Given the description of an element on the screen output the (x, y) to click on. 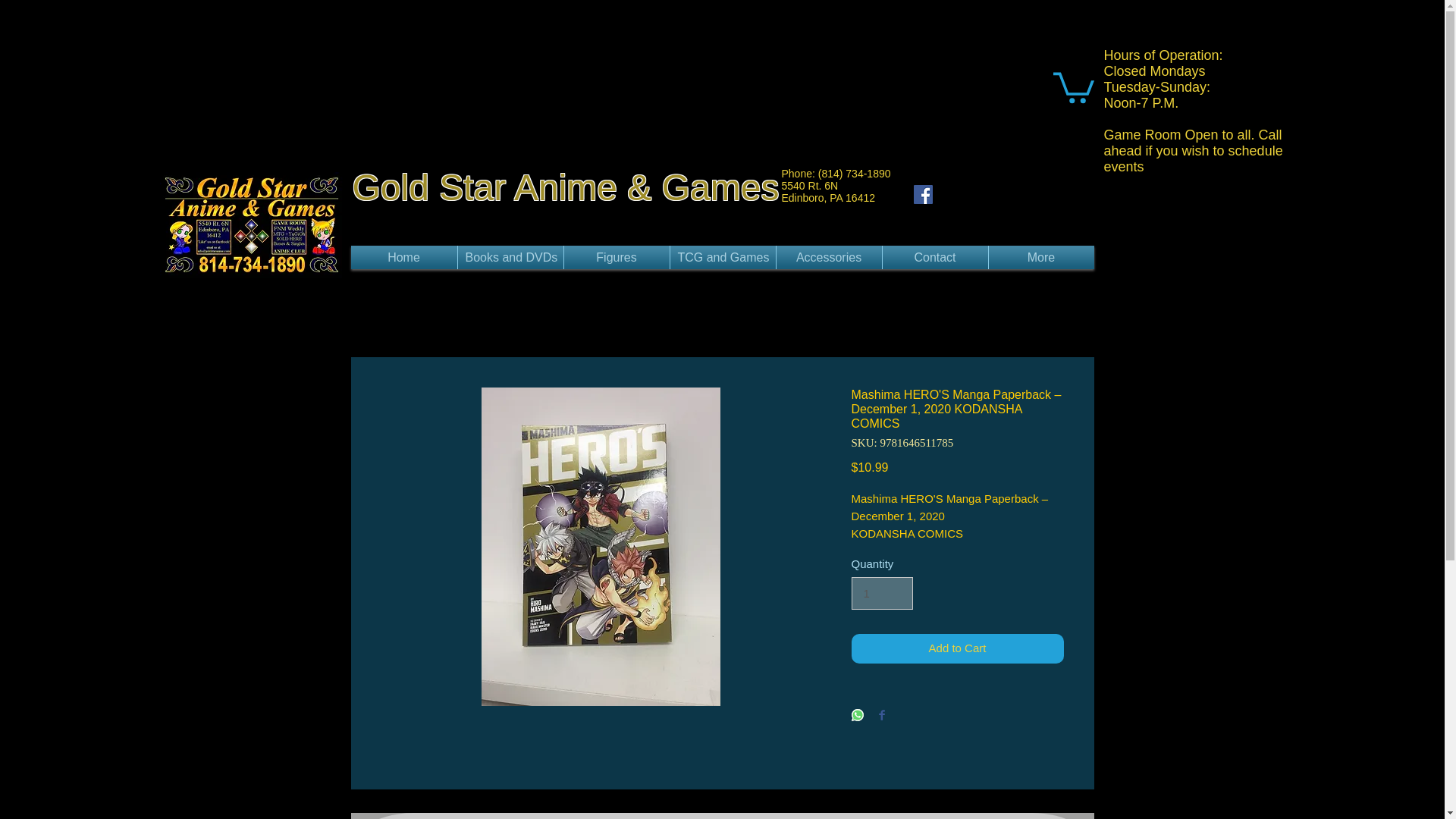
Accessories (829, 257)
Home (403, 257)
1 (881, 593)
Add to Cart (956, 648)
Contact (935, 257)
TCG and Games (722, 257)
Figures (616, 257)
Books and DVDs (510, 257)
